Given the description of an element on the screen output the (x, y) to click on. 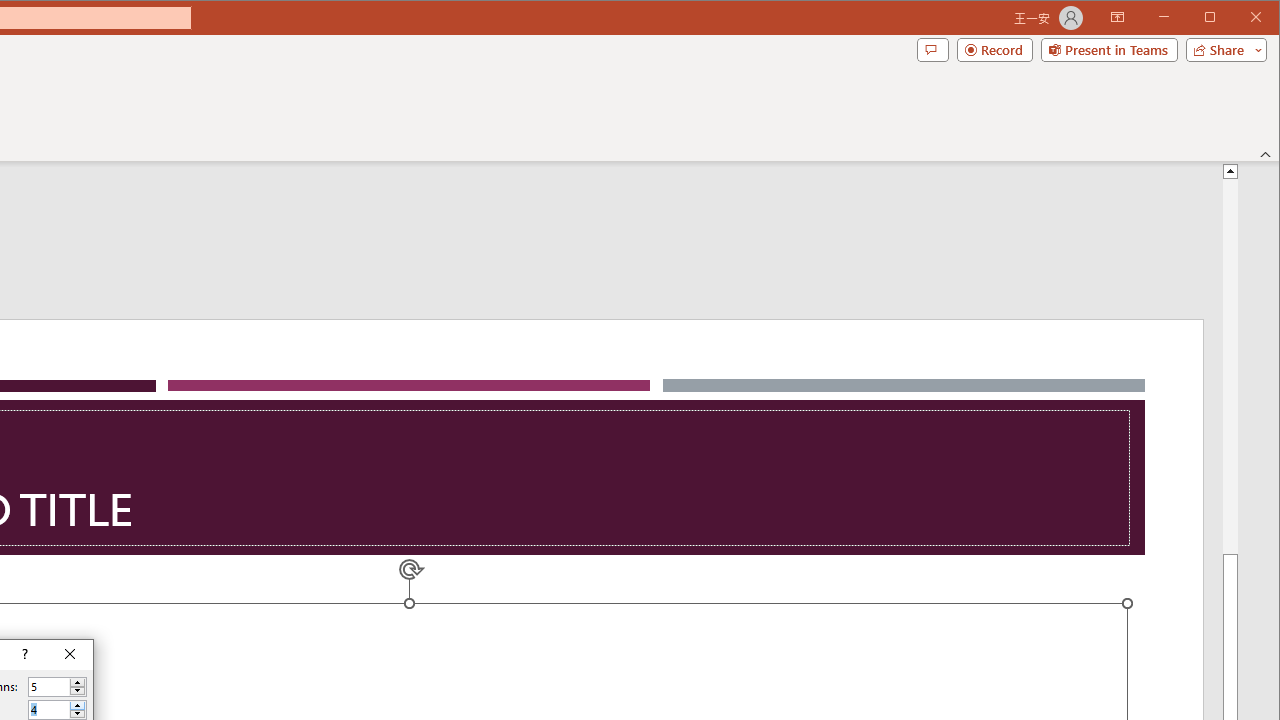
Context help (23, 655)
Number of columns (49, 687)
Number of rows (49, 710)
Maximize (1238, 18)
Number of rows (57, 709)
Number of columns (57, 686)
